Given the description of an element on the screen output the (x, y) to click on. 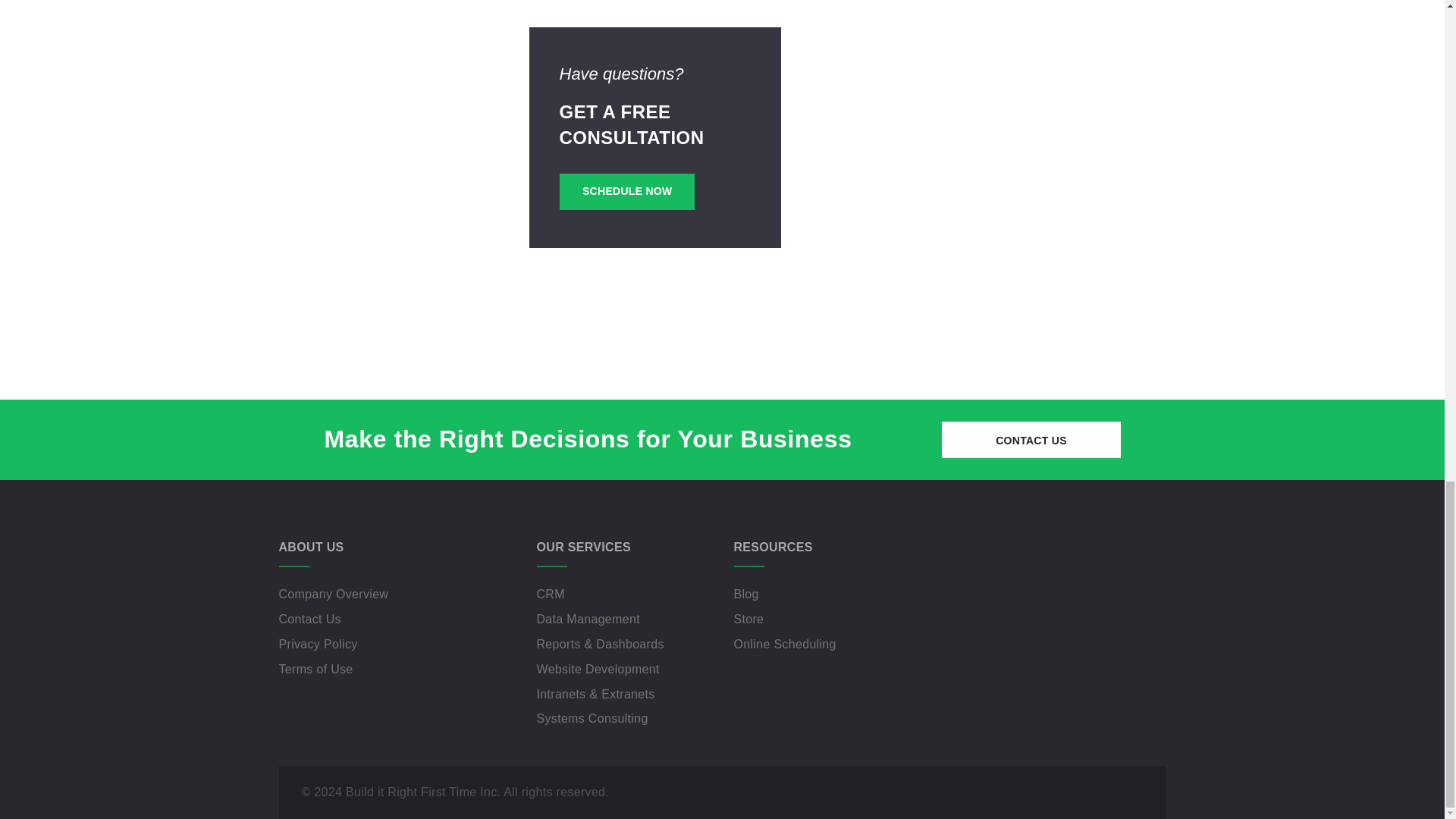
Privacy Policy (318, 644)
SCHEDULE NOW (626, 191)
Terms of Use (316, 668)
Company Overview (333, 594)
Website Development (598, 668)
CRM (550, 594)
CONTACT US (1031, 439)
Contact Us (309, 618)
Data Management (588, 618)
